Given the description of an element on the screen output the (x, y) to click on. 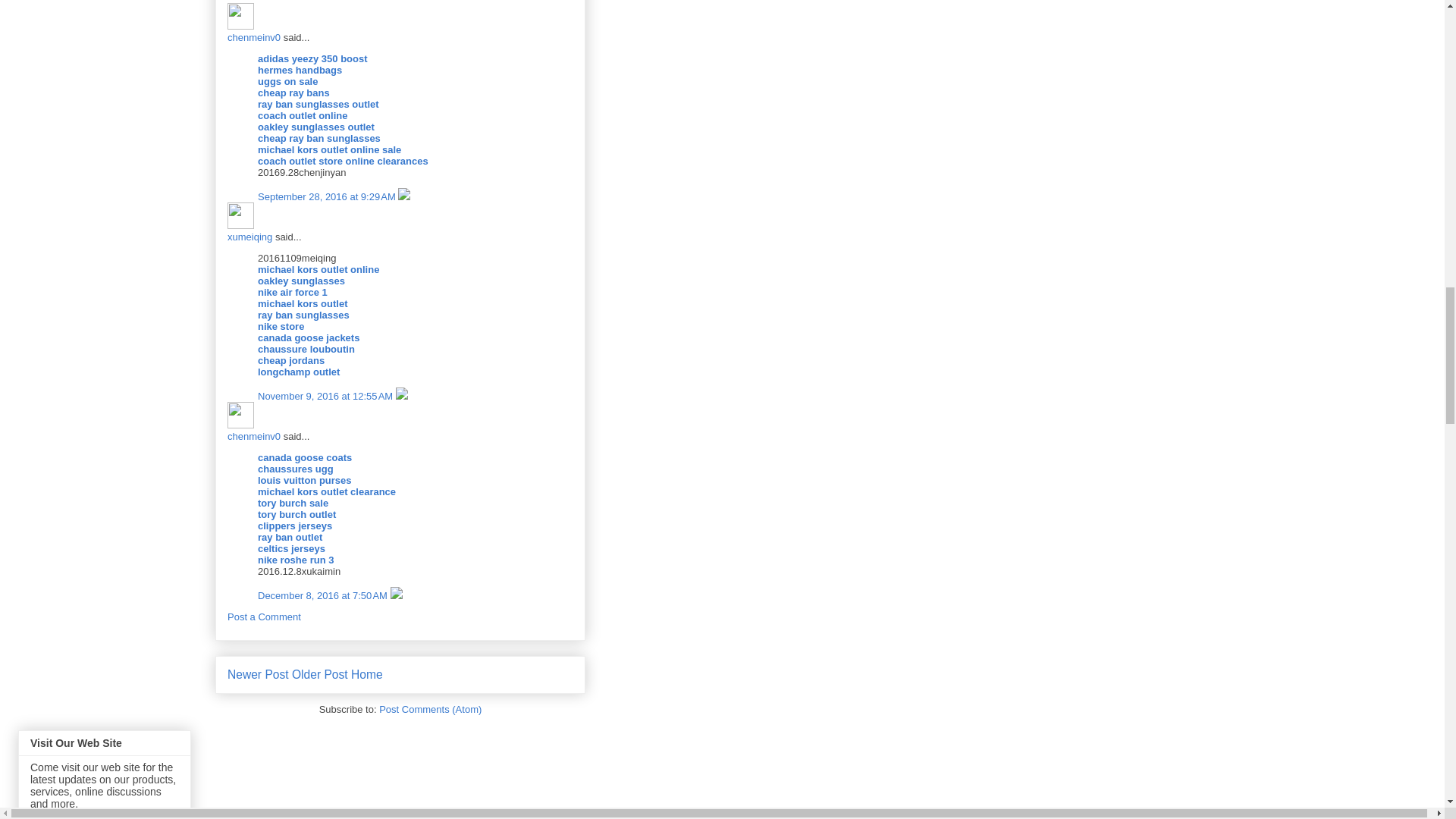
cheap ray ban sunglasses (318, 138)
adidas yeezy 350 boost (312, 58)
Delete Comment (403, 196)
nike air force 1 (292, 292)
cheap ray bans (293, 92)
xumeiqing (240, 215)
comment permalink (326, 396)
oakley sunglasses outlet (315, 126)
ray ban sunglasses (303, 315)
oakley sunglasses (301, 280)
chenmeinv0 (240, 415)
ray ban sunglasses outlet (317, 103)
chenmeinv0 (254, 37)
michael kors outlet online (317, 269)
